Given the description of an element on the screen output the (x, y) to click on. 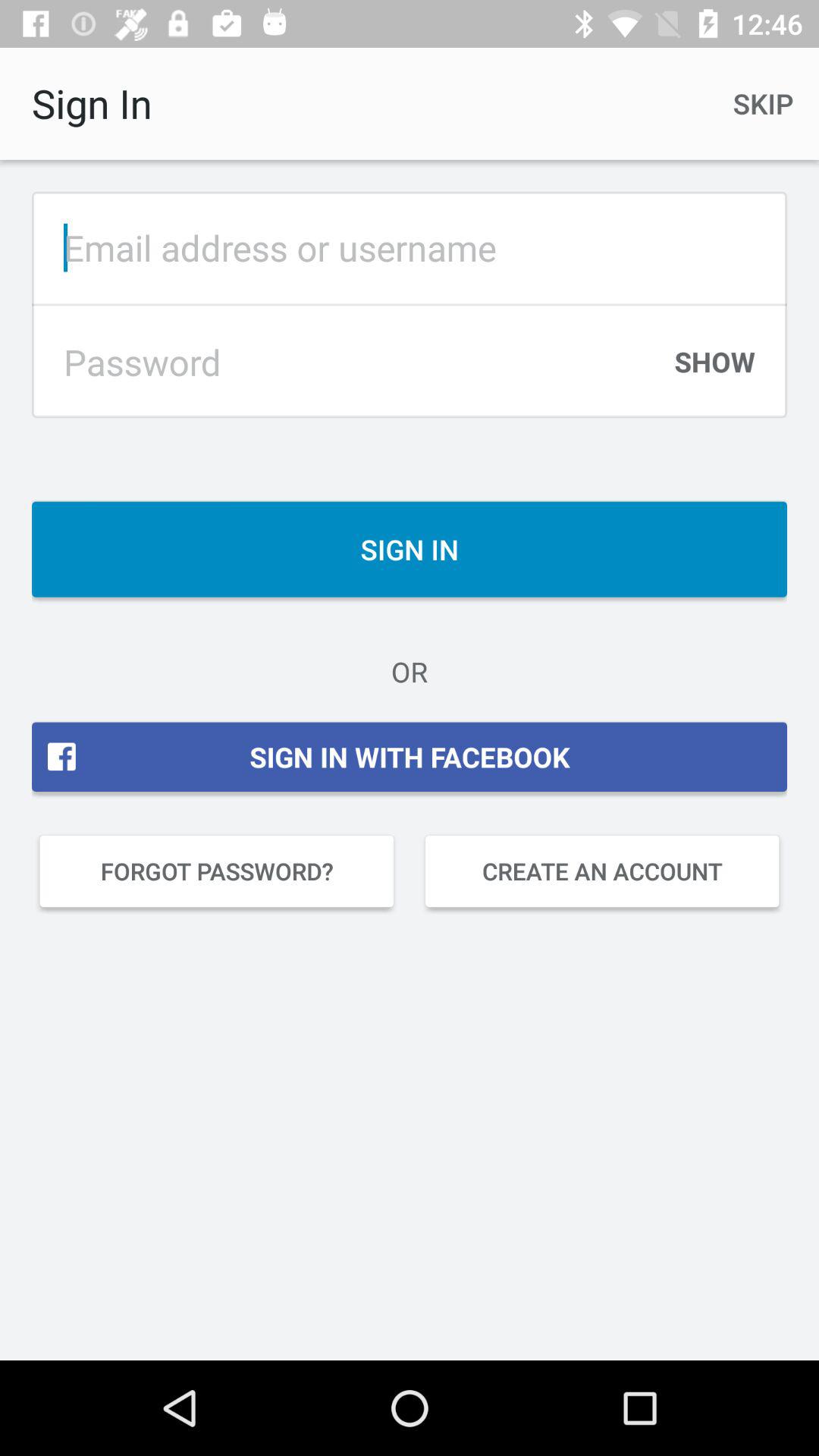
press icon next to the create an account (216, 871)
